Given the description of an element on the screen output the (x, y) to click on. 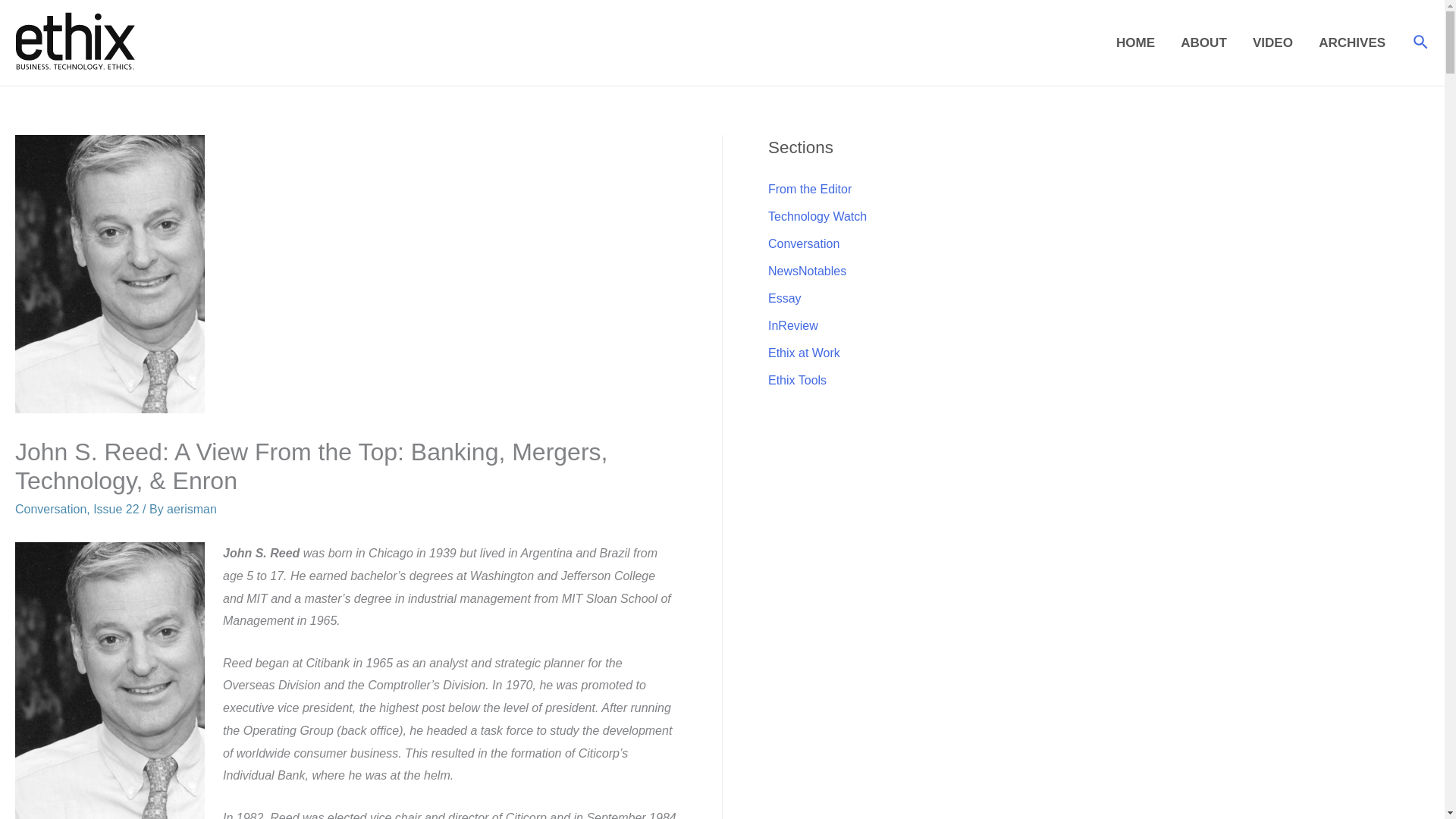
ABOUT (1203, 42)
Ethix Tools (797, 379)
Essay (785, 297)
aerisman (191, 508)
NewsNotables (806, 270)
HOME (1135, 42)
From the Editor (809, 188)
InReview (793, 325)
VIDEO (1273, 42)
View all posts by aerisman (191, 508)
